Given the description of an element on the screen output the (x, y) to click on. 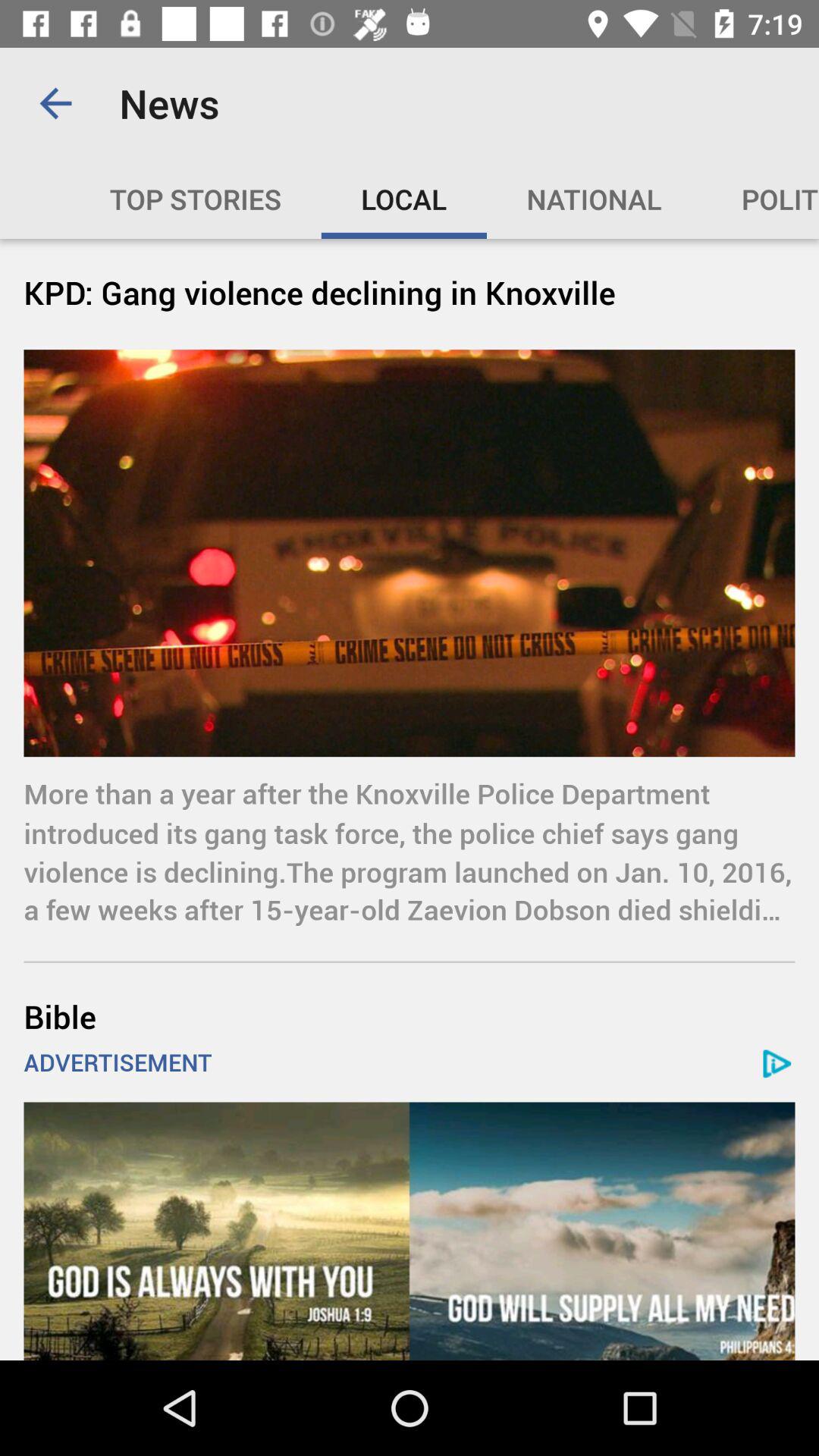
choose the item below more than a icon (409, 1015)
